Given the description of an element on the screen output the (x, y) to click on. 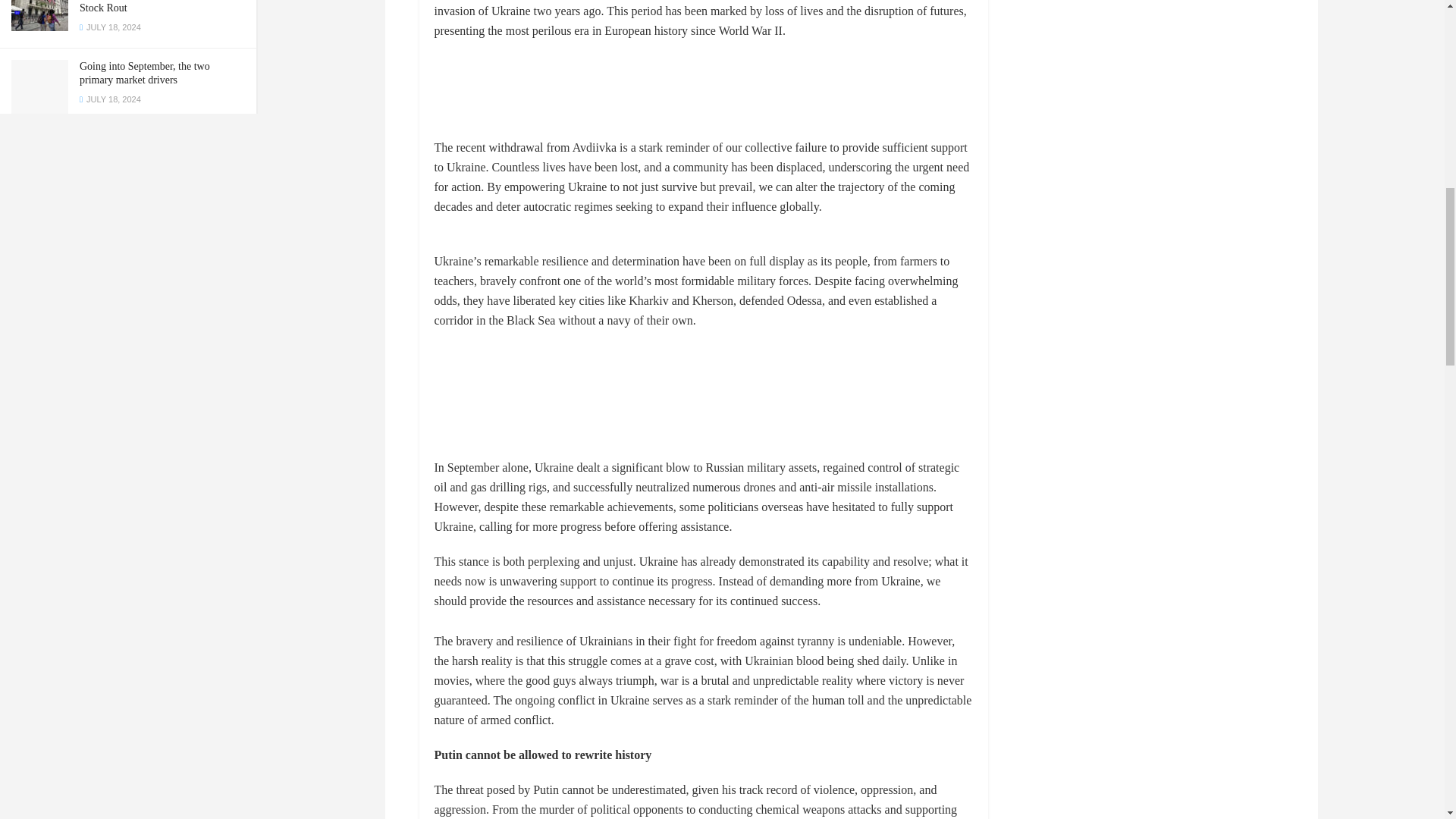
Going into September, the two primary market drivers (144, 72)
